Given the description of an element on the screen output the (x, y) to click on. 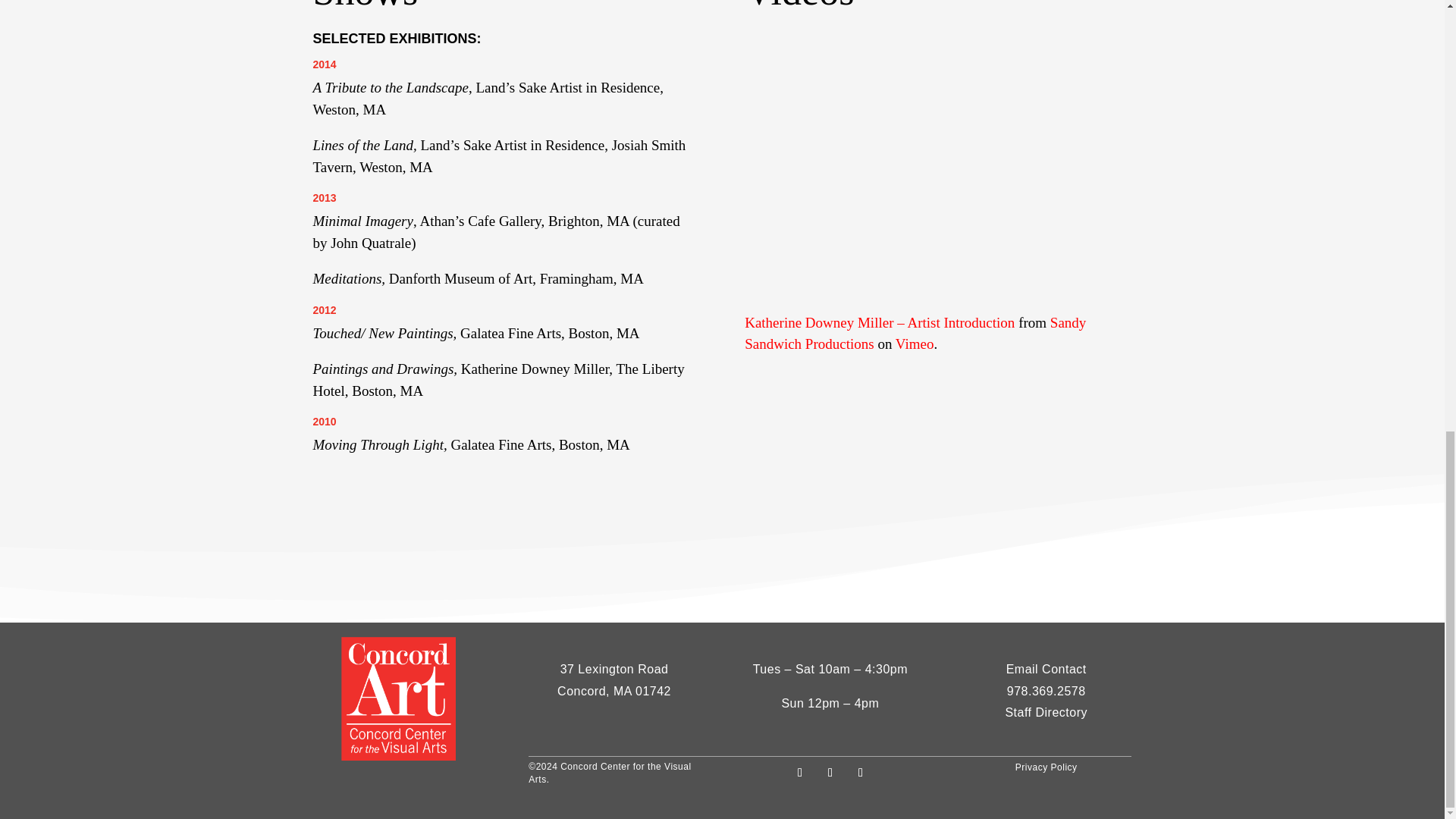
Vimeo (914, 343)
Follow on Facebook (799, 772)
Staff Directory (1045, 705)
Follow on X (830, 772)
Follow on Instagram (860, 772)
Sandy Sandwich Productions (915, 333)
Email Contact (1046, 668)
